Given the description of an element on the screen output the (x, y) to click on. 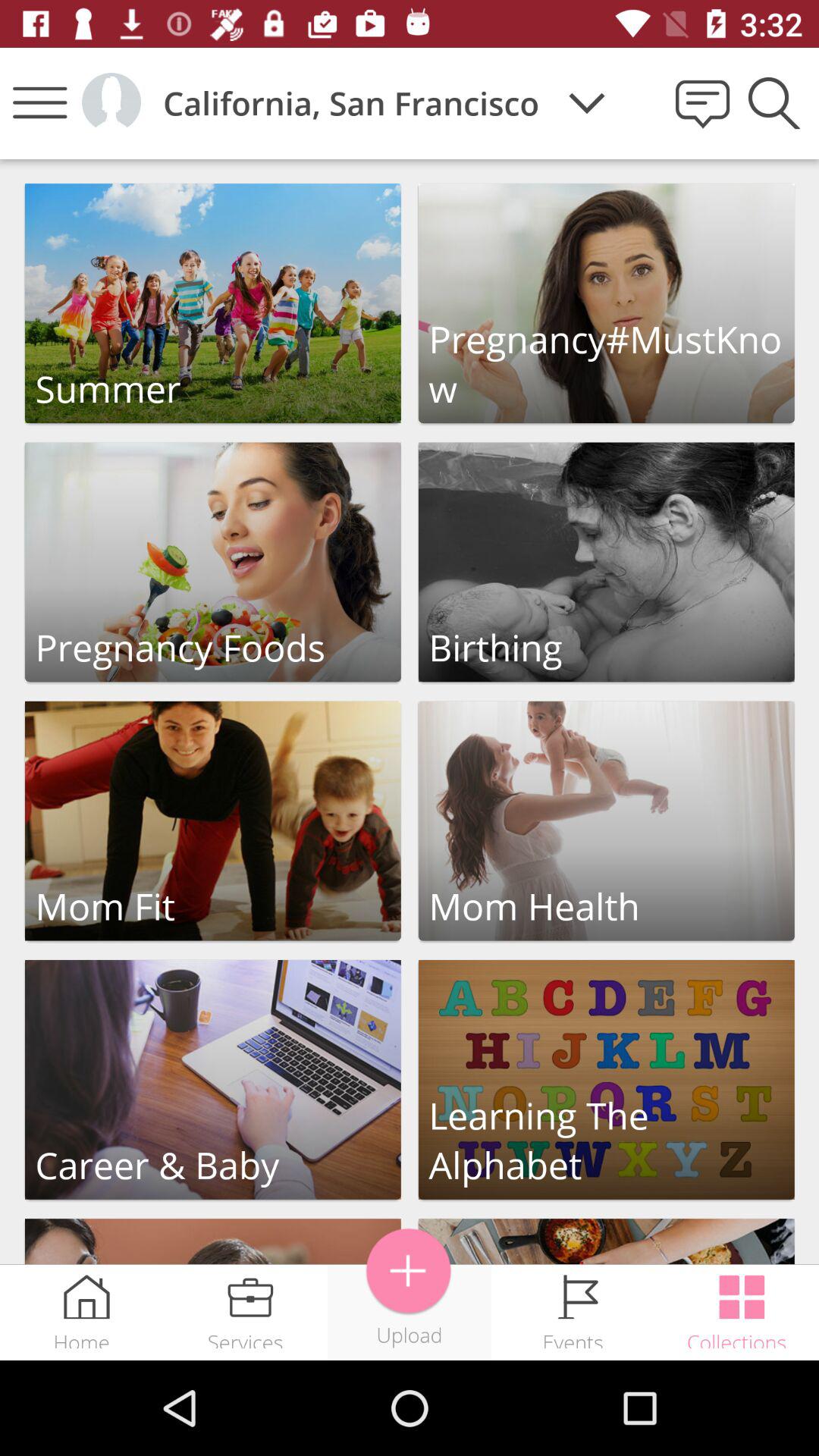
open section (606, 820)
